Given the description of an element on the screen output the (x, y) to click on. 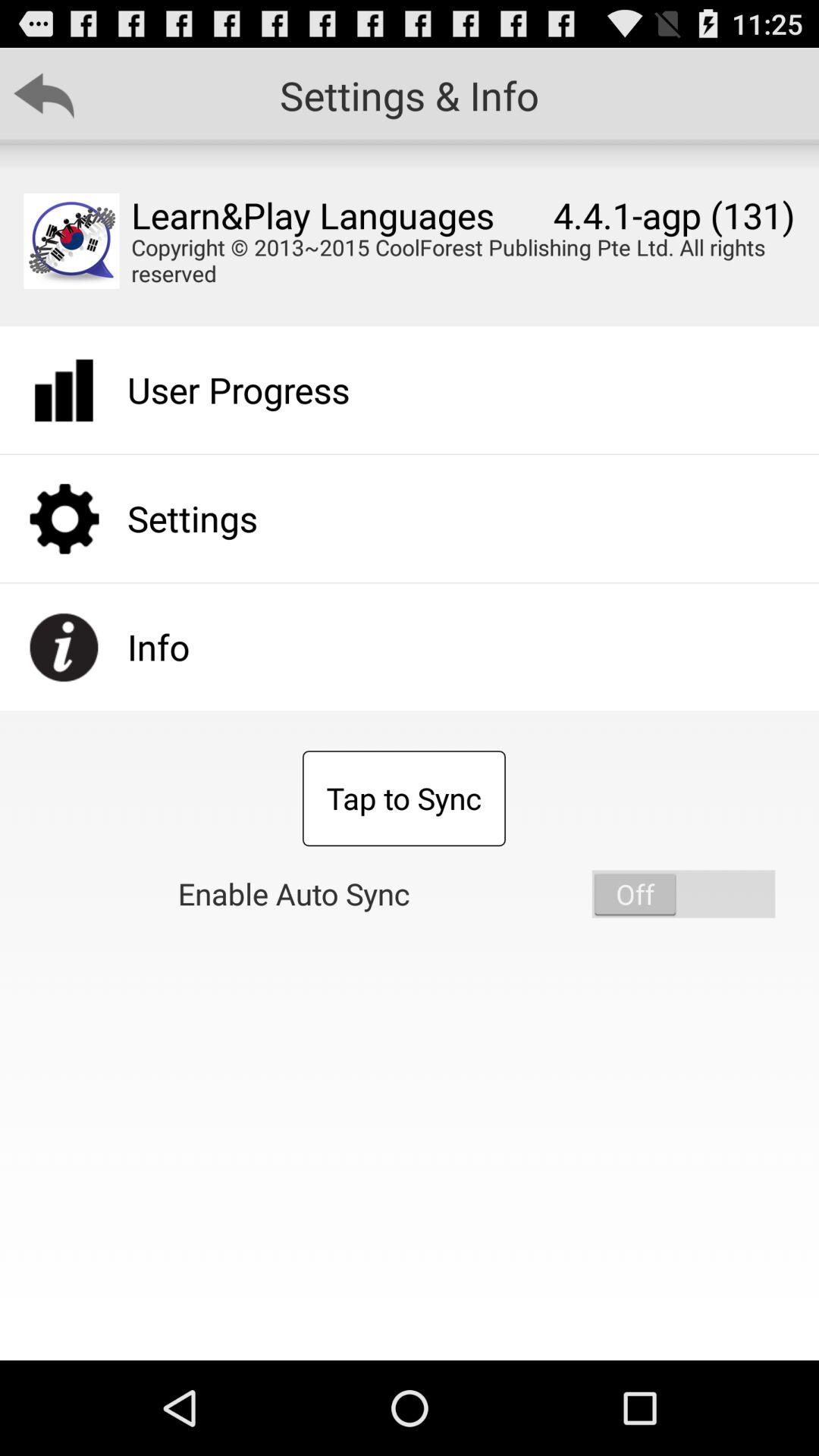
open the item next to learn&play languages (71, 240)
